Given the description of an element on the screen output the (x, y) to click on. 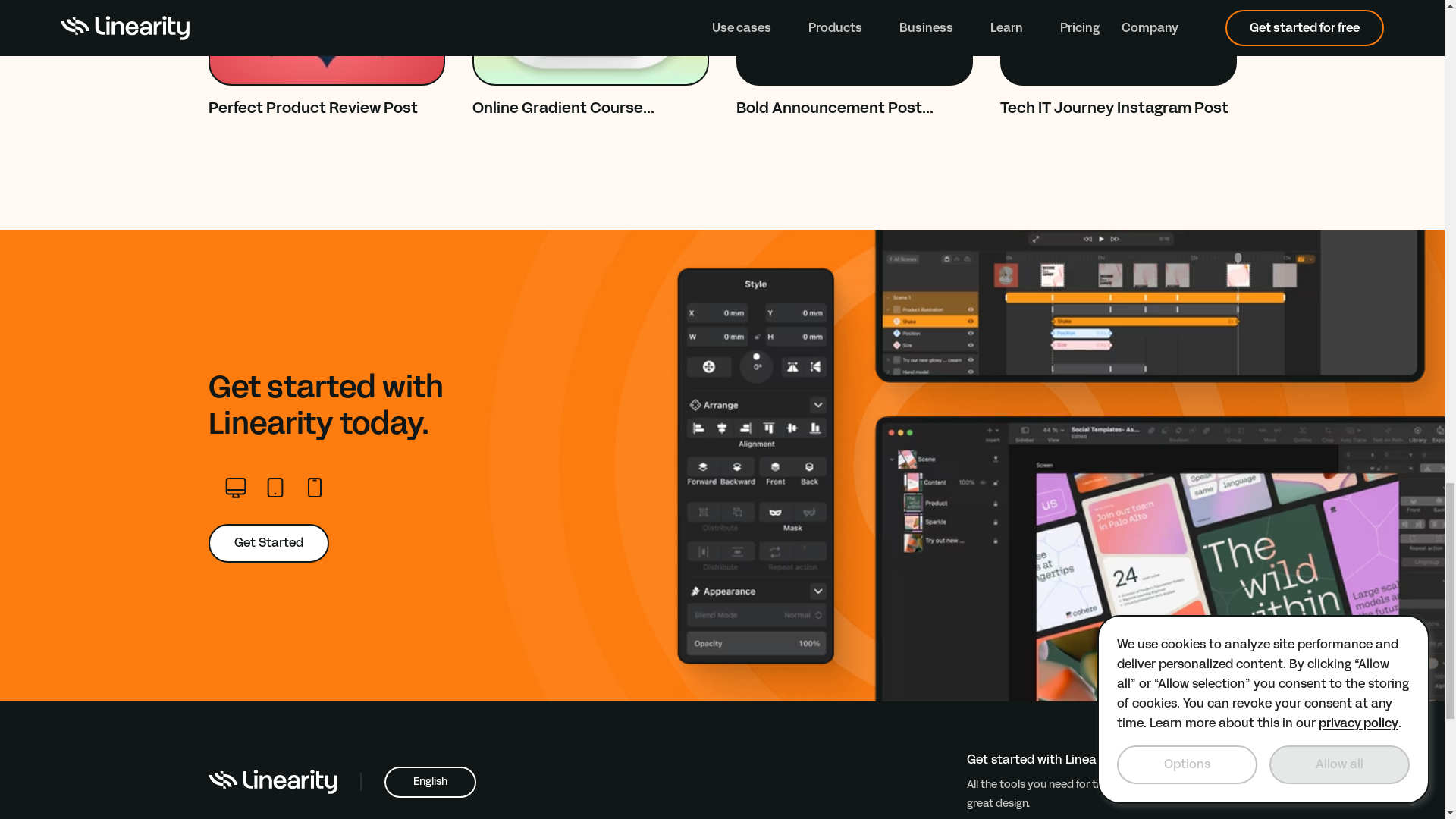
English (430, 781)
English (430, 781)
Get Started (268, 543)
Get Started (326, 58)
